Given the description of an element on the screen output the (x, y) to click on. 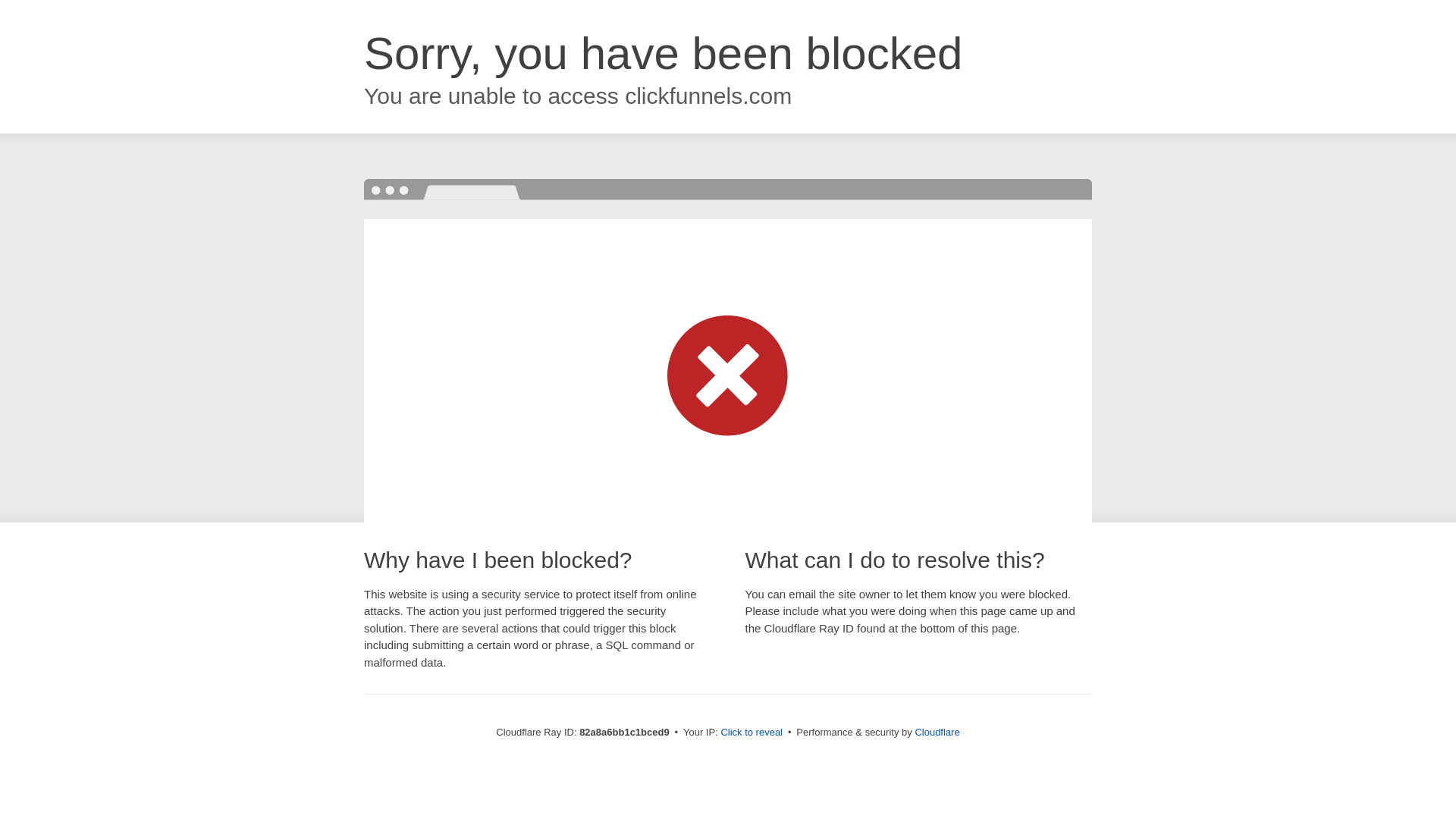
Click to reveal Element type: text (751, 732)
Cloudflare Element type: text (936, 731)
